Given the description of an element on the screen output the (x, y) to click on. 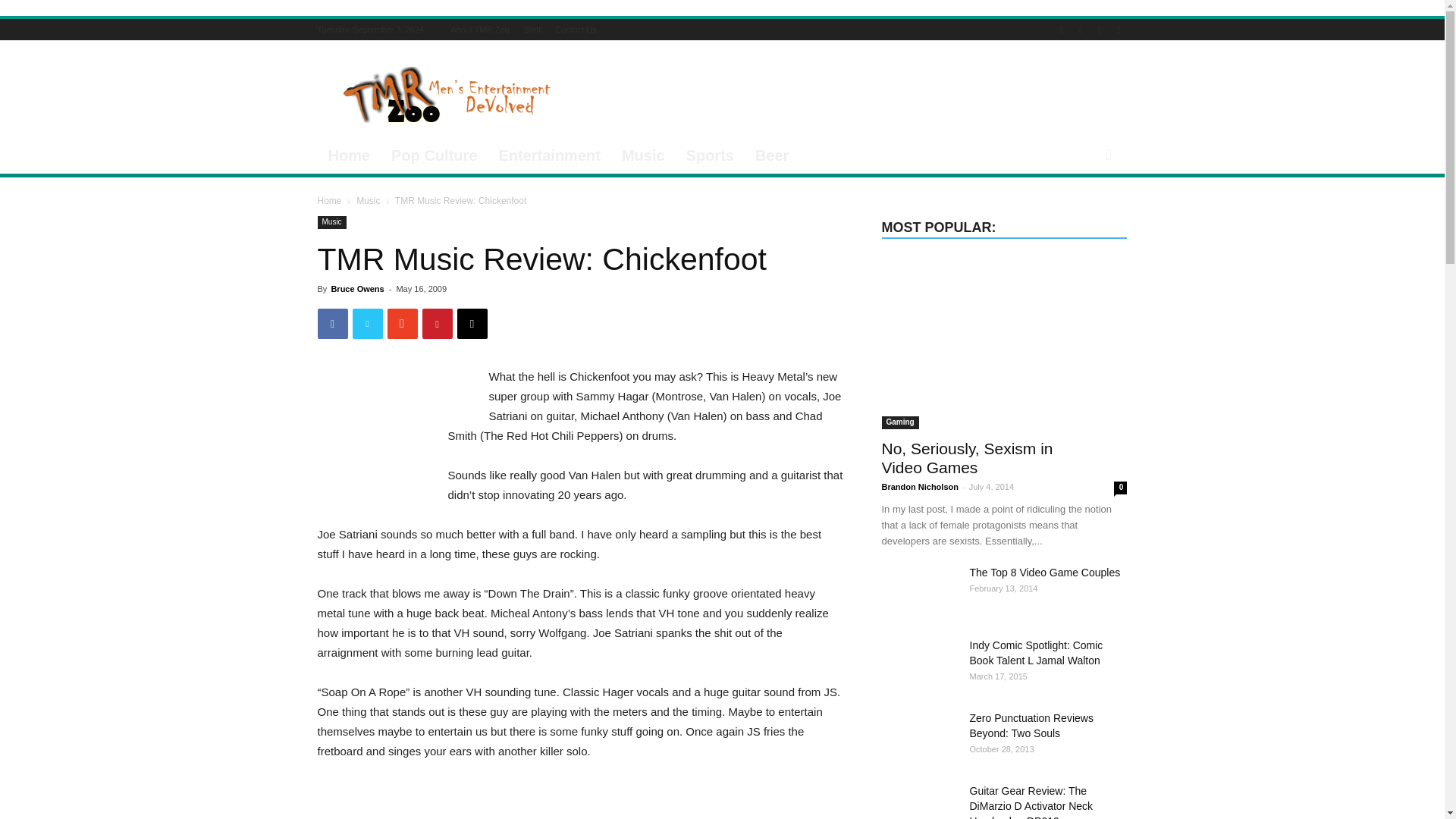
Music (331, 222)
View all posts in Music (368, 200)
Bruce Owens (357, 288)
About TMR Zoo (478, 29)
Contact Us (574, 29)
Beer (771, 155)
TMR Zoo Staff (532, 29)
Sports (709, 155)
Music (643, 155)
Home (348, 155)
